Given the description of an element on the screen output the (x, y) to click on. 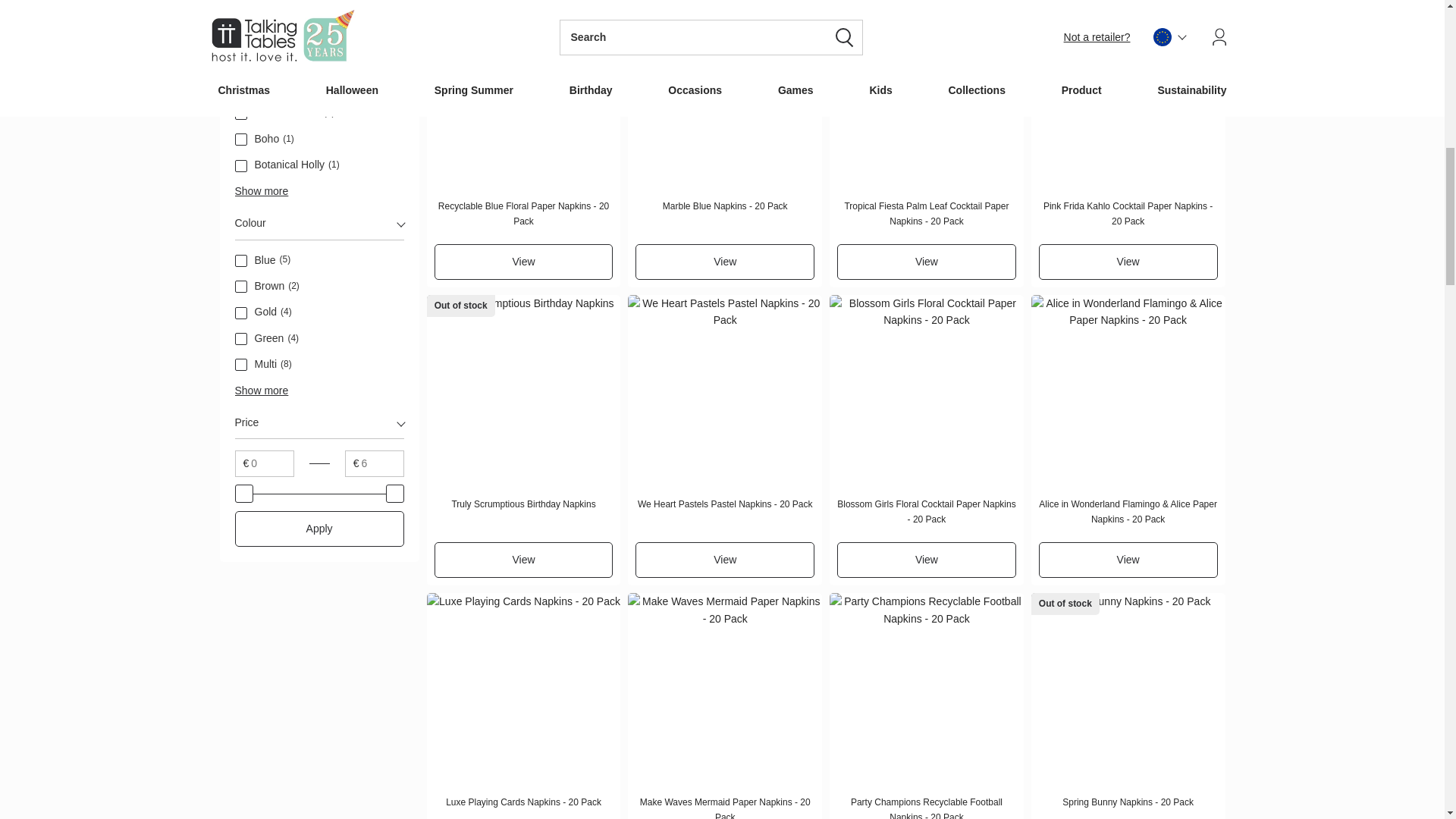
Birthday Brights (240, 87)
Multi (240, 364)
Blossom Girls (240, 113)
Botanical Holly (240, 165)
Gold (240, 313)
Alice Brights (240, 61)
Blue (240, 260)
Brown (240, 286)
Green (240, 338)
Boho (240, 139)
